Given the description of an element on the screen output the (x, y) to click on. 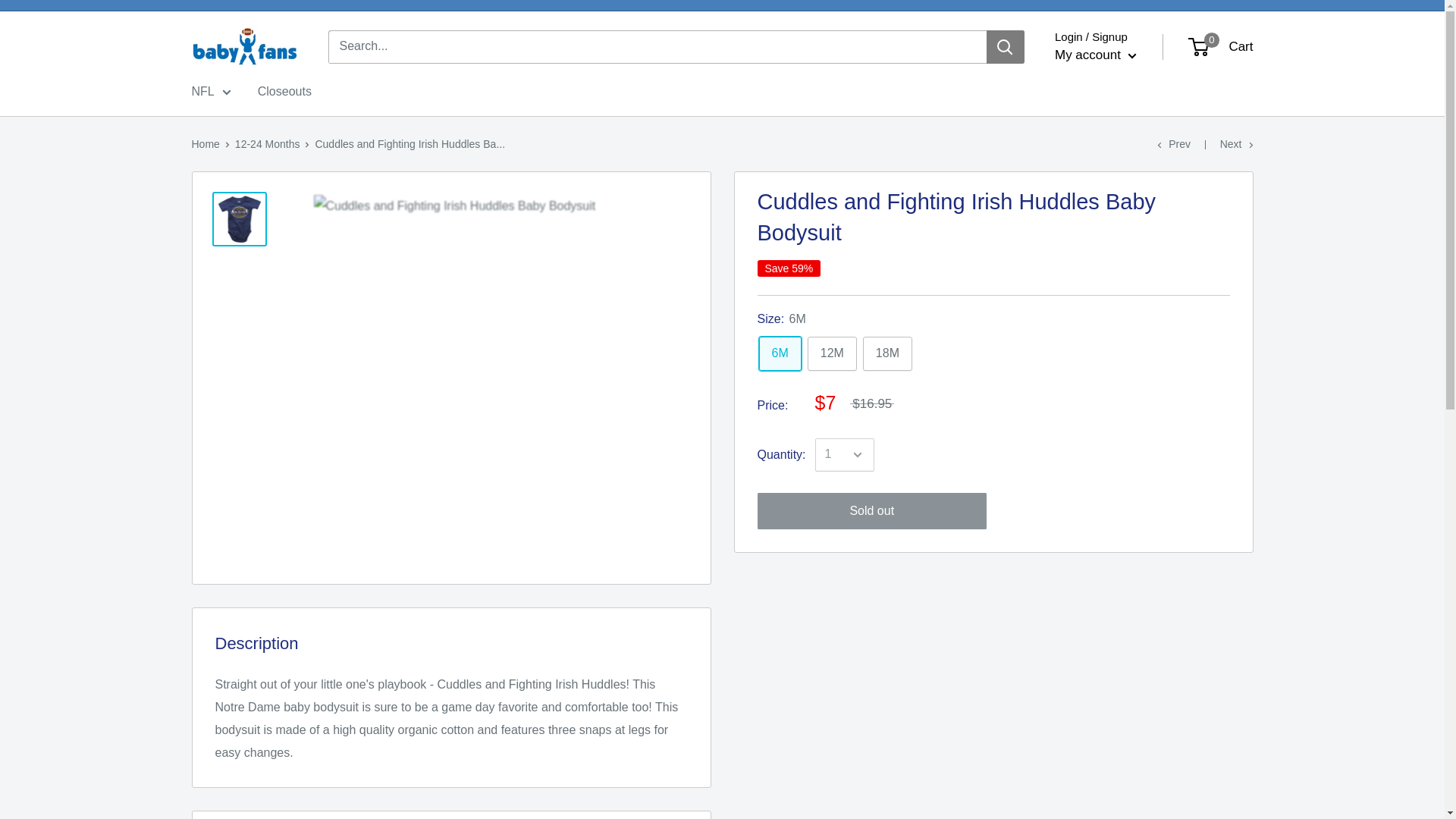
6M (779, 353)
12M (832, 353)
18M (887, 353)
